Given the description of an element on the screen output the (x, y) to click on. 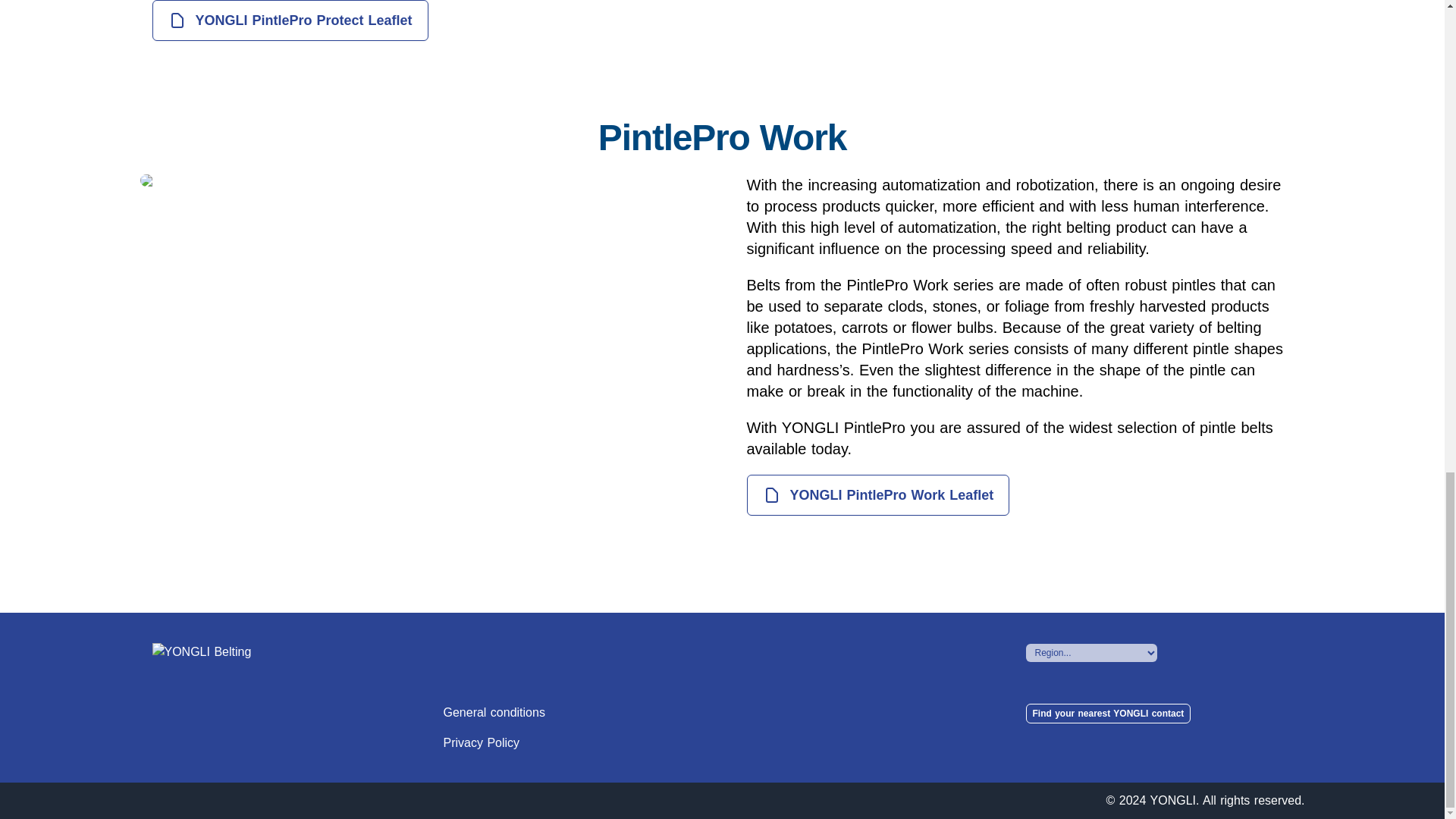
Find your nearest YONGLI contact (1108, 713)
YONGLI PintlePro Work Leaflet (877, 495)
General conditions (493, 712)
Privacy Policy (480, 742)
YONGLI PintlePro Protect Leaflet (289, 20)
